Given the description of an element on the screen output the (x, y) to click on. 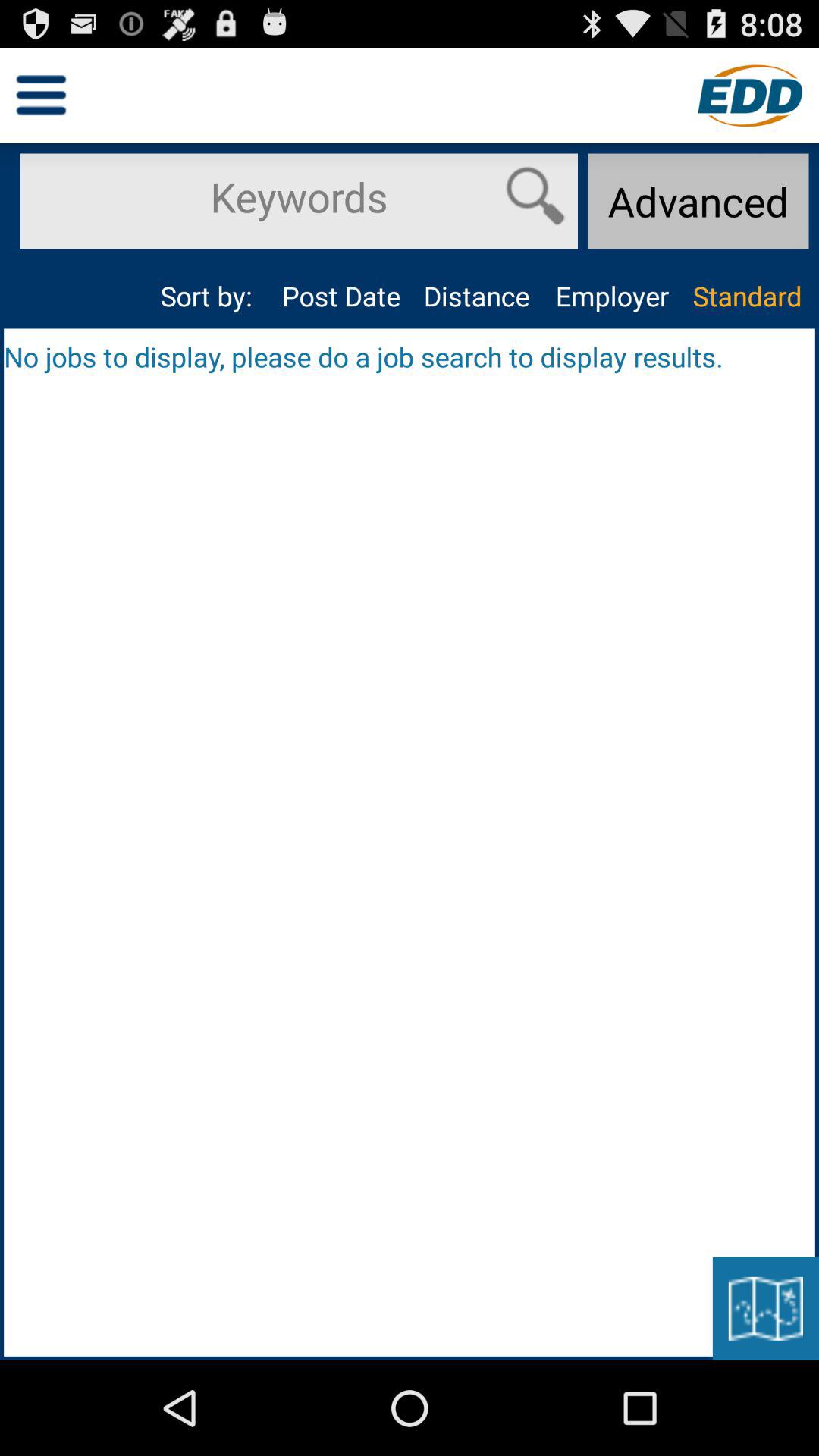
tap the app to the left of the distance icon (341, 295)
